Given the description of an element on the screen output the (x, y) to click on. 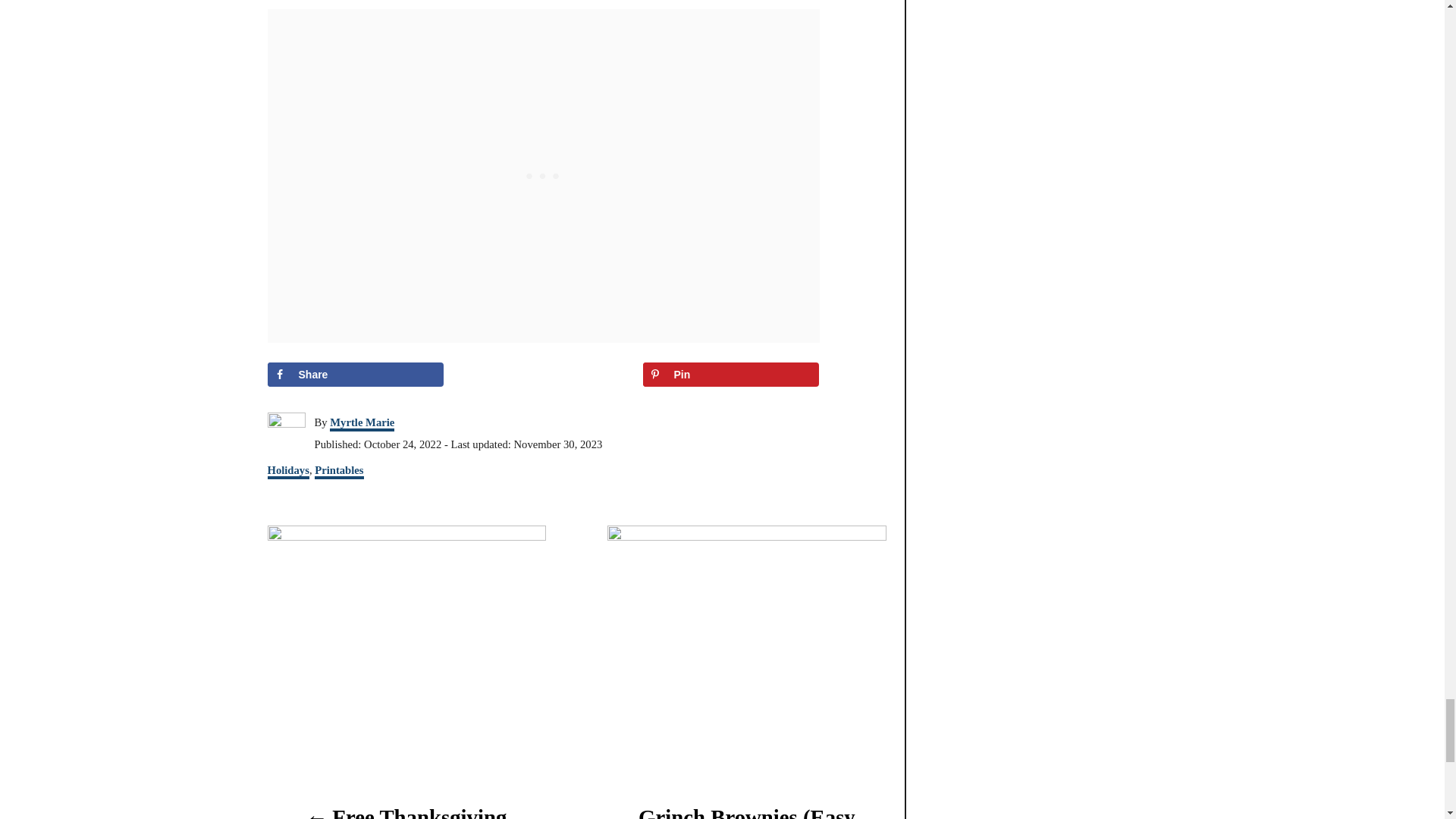
Share on Facebook (355, 374)
Myrtle Marie (362, 423)
Free Thanksgiving Placemats Printables To Color (405, 809)
Pin (731, 374)
Share on X (542, 374)
Holidays (287, 471)
Save to Pinterest (731, 374)
Share (355, 374)
Printables (338, 471)
Tweet (542, 374)
